Given the description of an element on the screen output the (x, y) to click on. 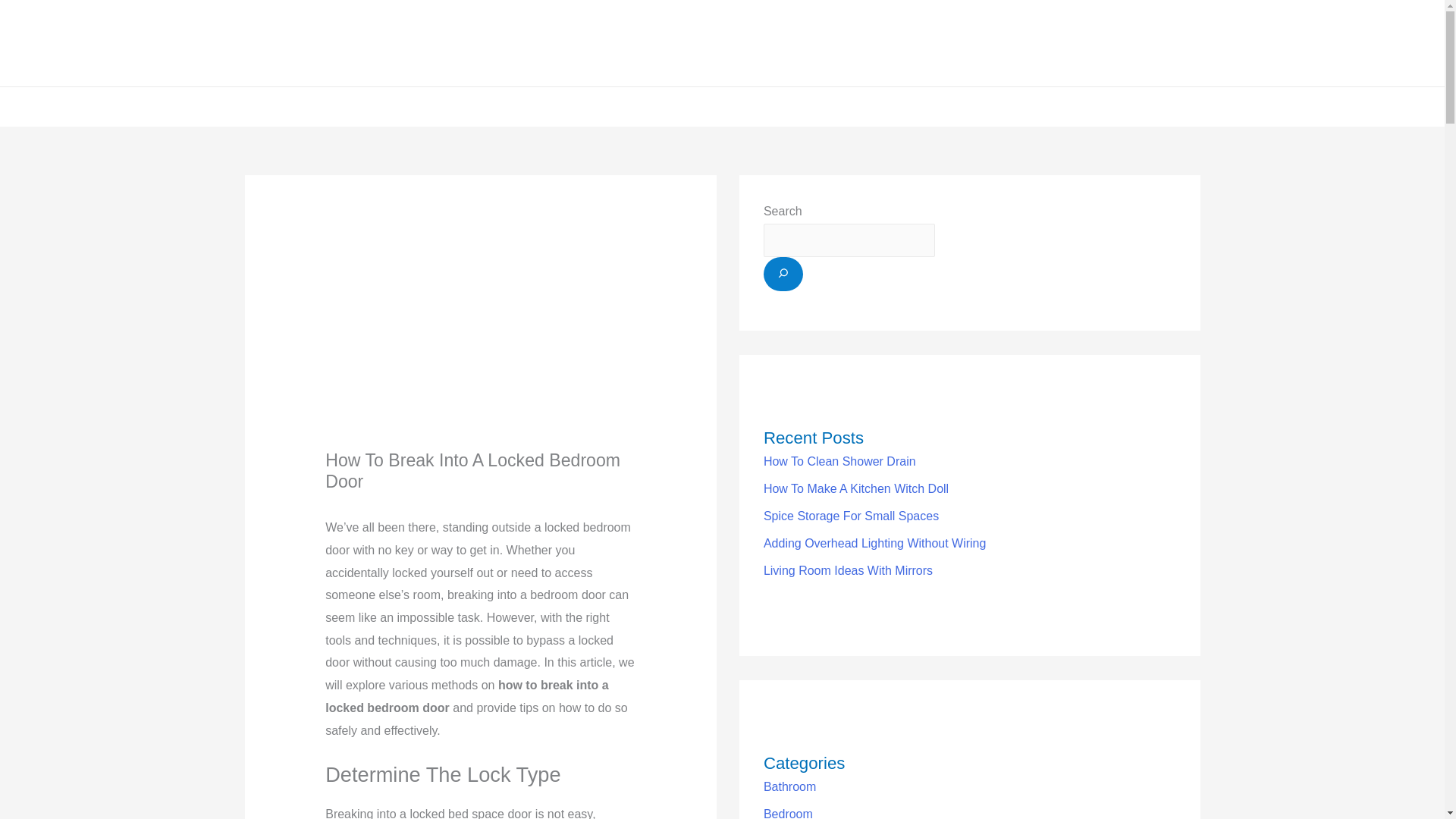
HOME (543, 106)
LIVING (606, 106)
KITCHEN (762, 106)
Bathroom (788, 786)
How To Clean Shower Drain (838, 461)
OUTDOOR (837, 106)
Bedroom (787, 813)
How To Make A Kitchen Witch Doll (855, 488)
BLOG (902, 106)
FURNITURE (685, 106)
Living Room Ideas With Mirrors (847, 570)
Spice Storage For Small Spaces (850, 515)
Adding Overhead Lighting Without Wiring (874, 543)
